Given the description of an element on the screen output the (x, y) to click on. 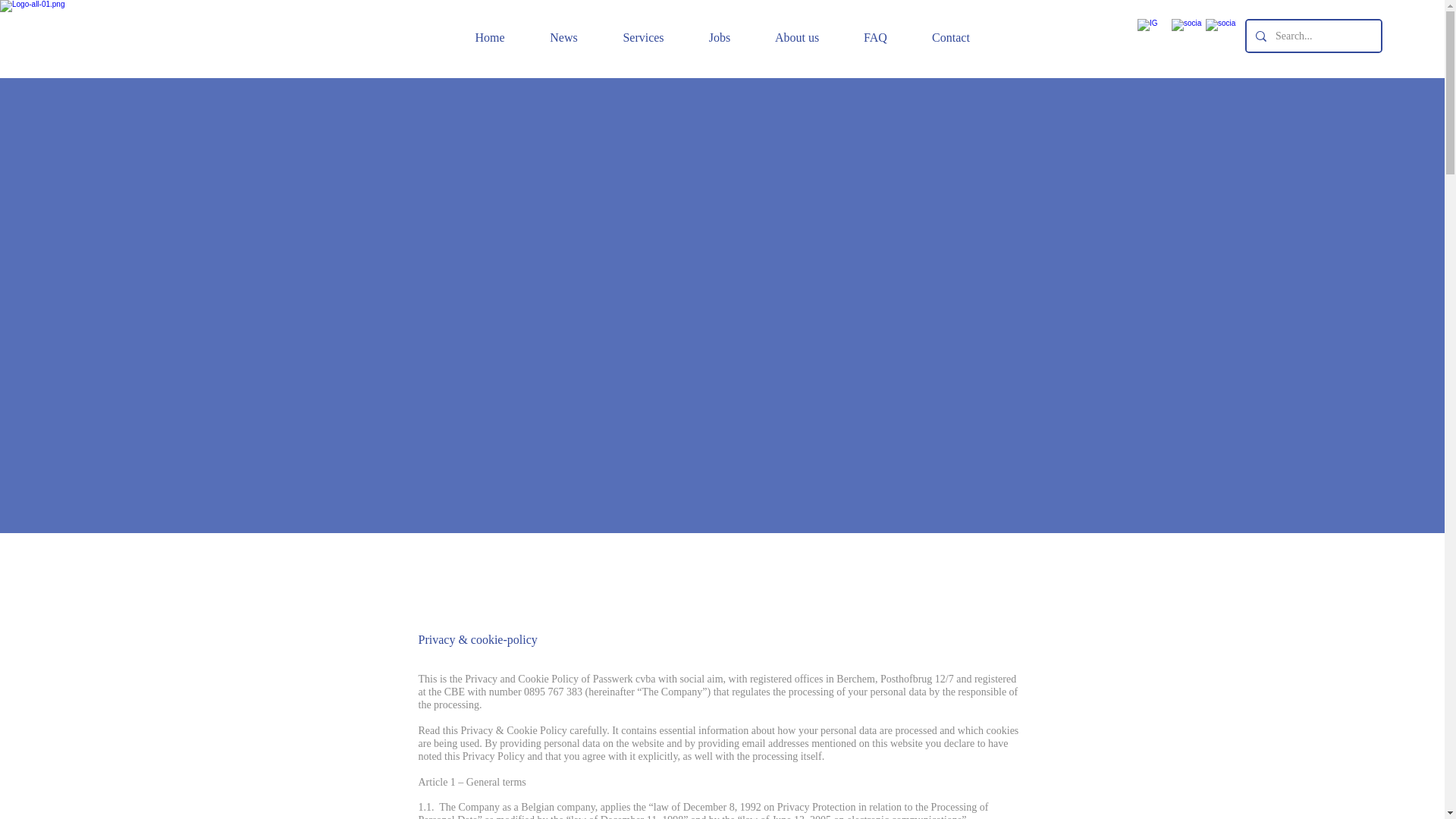
News (563, 37)
Home (489, 37)
Jobs (719, 37)
FAQ (875, 37)
About us (796, 37)
Services (643, 37)
Contact (951, 37)
